Given the description of an element on the screen output the (x, y) to click on. 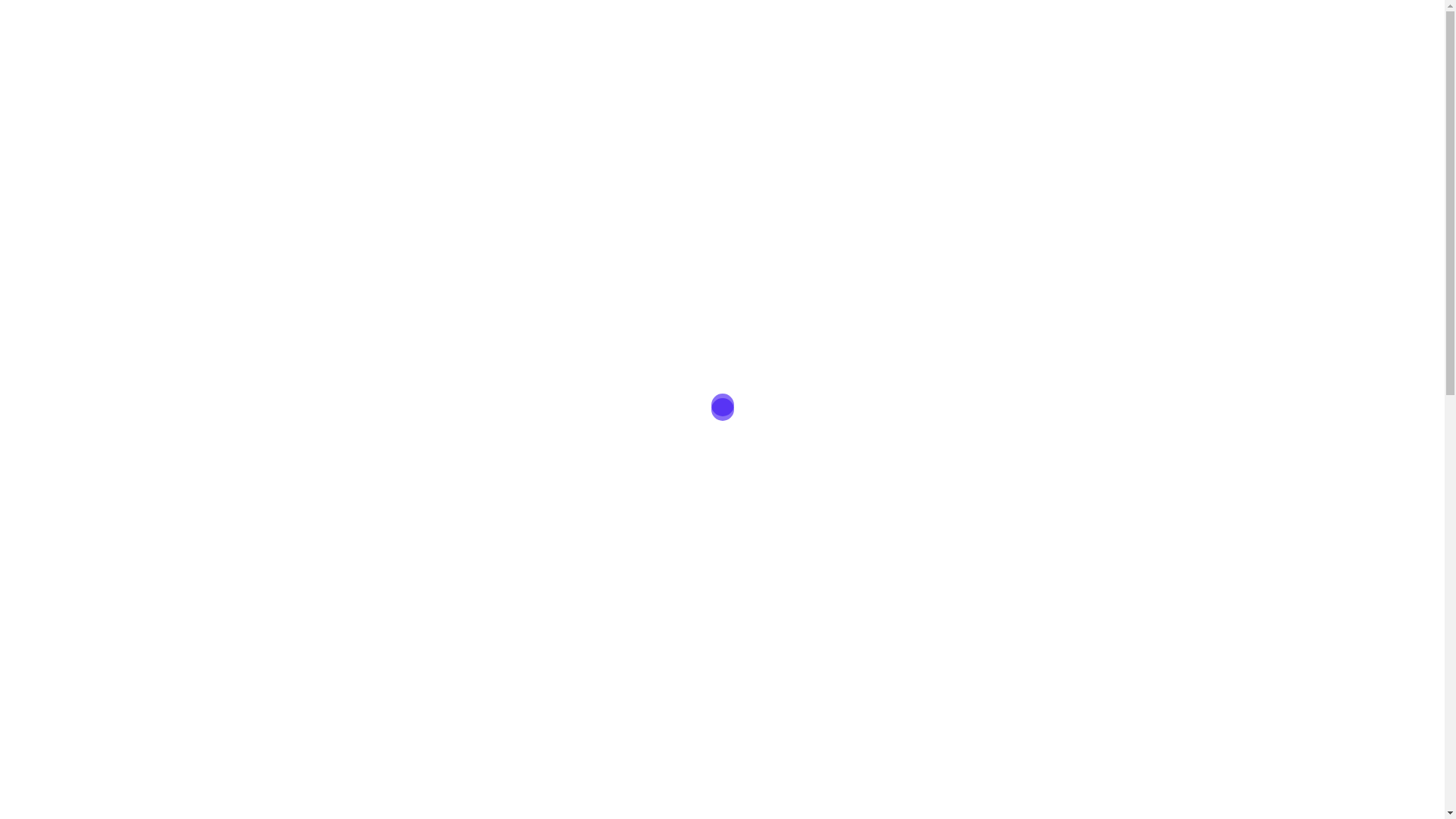
HOME Element type: text (611, 24)
DISCOUNT BOOKS Element type: text (1035, 24)
BUY PRODUCT Element type: text (794, 447)
REVIEWS (0) Element type: text (336, 566)
ABOUT US Element type: text (676, 24)
NEWSLETTER Element type: text (929, 24)
COPYWRITER Element type: text (835, 24)
SHOP Element type: text (1120, 24)
SUPERIOR ENTREPRENEUR Element type: text (667, 42)
Skip to content Element type: text (0, 0)
EDITORIAL Element type: text (753, 24)
Home Element type: text (317, 94)
3J Press LLC Element type: hover (331, 32)
